Given the description of an element on the screen output the (x, y) to click on. 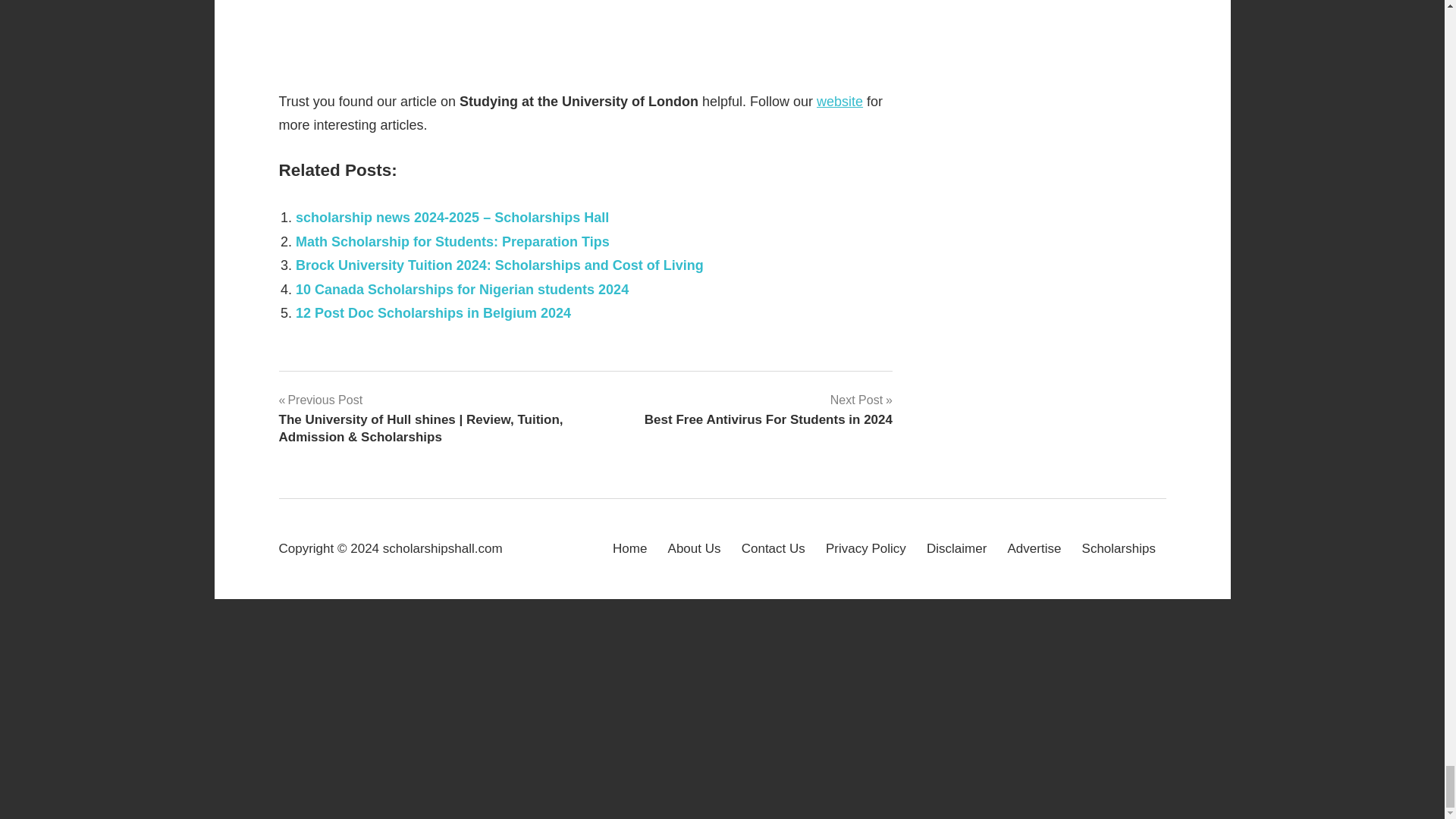
FULLY FUNDED SCHOLARSHIPS FOR INTERNATIONAL STUDENTS (586, 30)
Math Scholarship for Students: Preparation Tips (452, 241)
10 Canada Scholarships for Nigerian students 2024 (461, 289)
Math Scholarship for Students: Preparation Tips (452, 241)
website (839, 101)
